Given the description of an element on the screen output the (x, y) to click on. 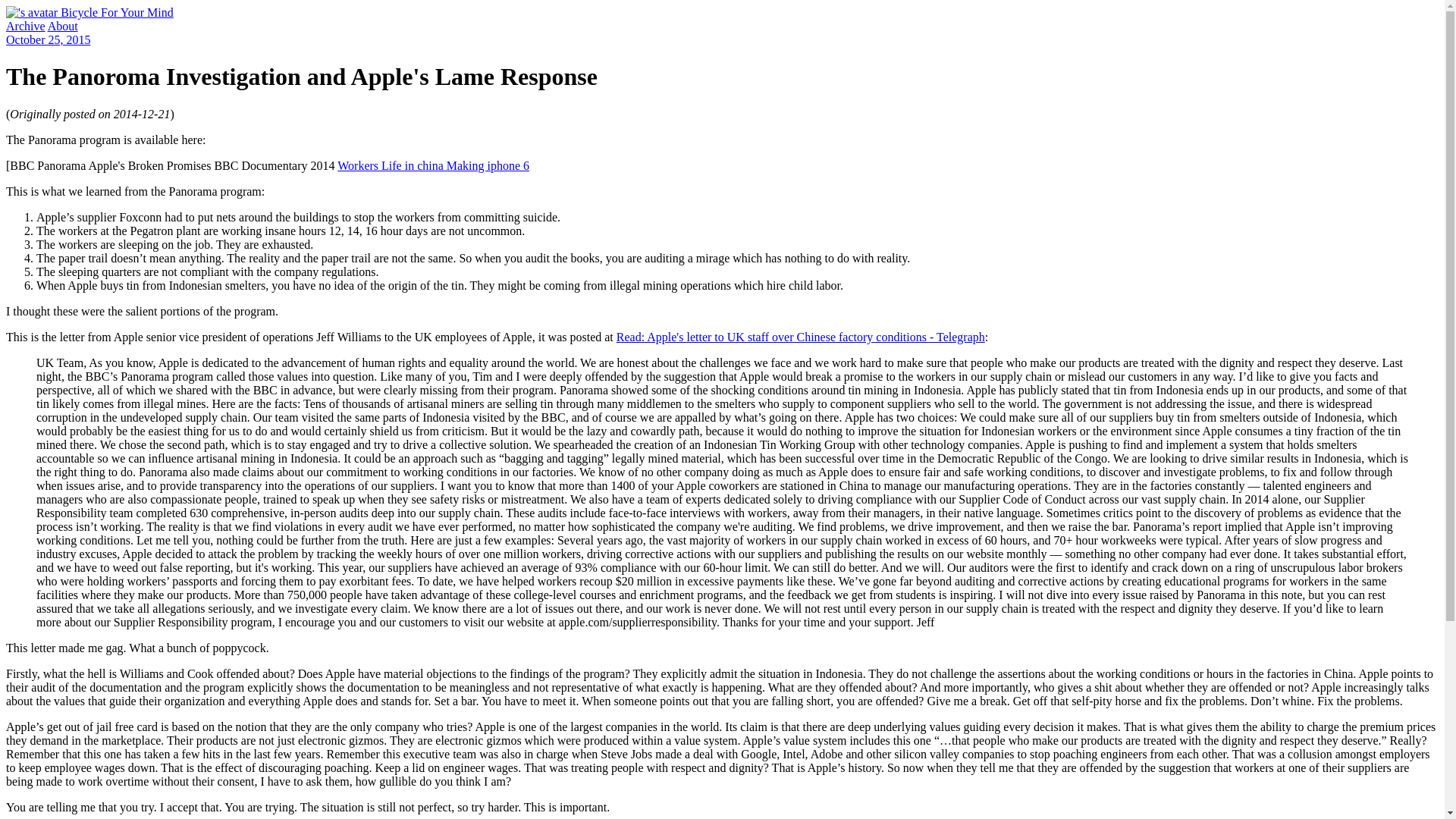
Archives (25, 25)
October 25, 2015 (47, 39)
About (63, 25)
About (63, 25)
Archive (25, 25)
Workers Life in china Making iphone 6 (433, 164)
Bicycle For Your Mind (89, 11)
